Given the description of an element on the screen output the (x, y) to click on. 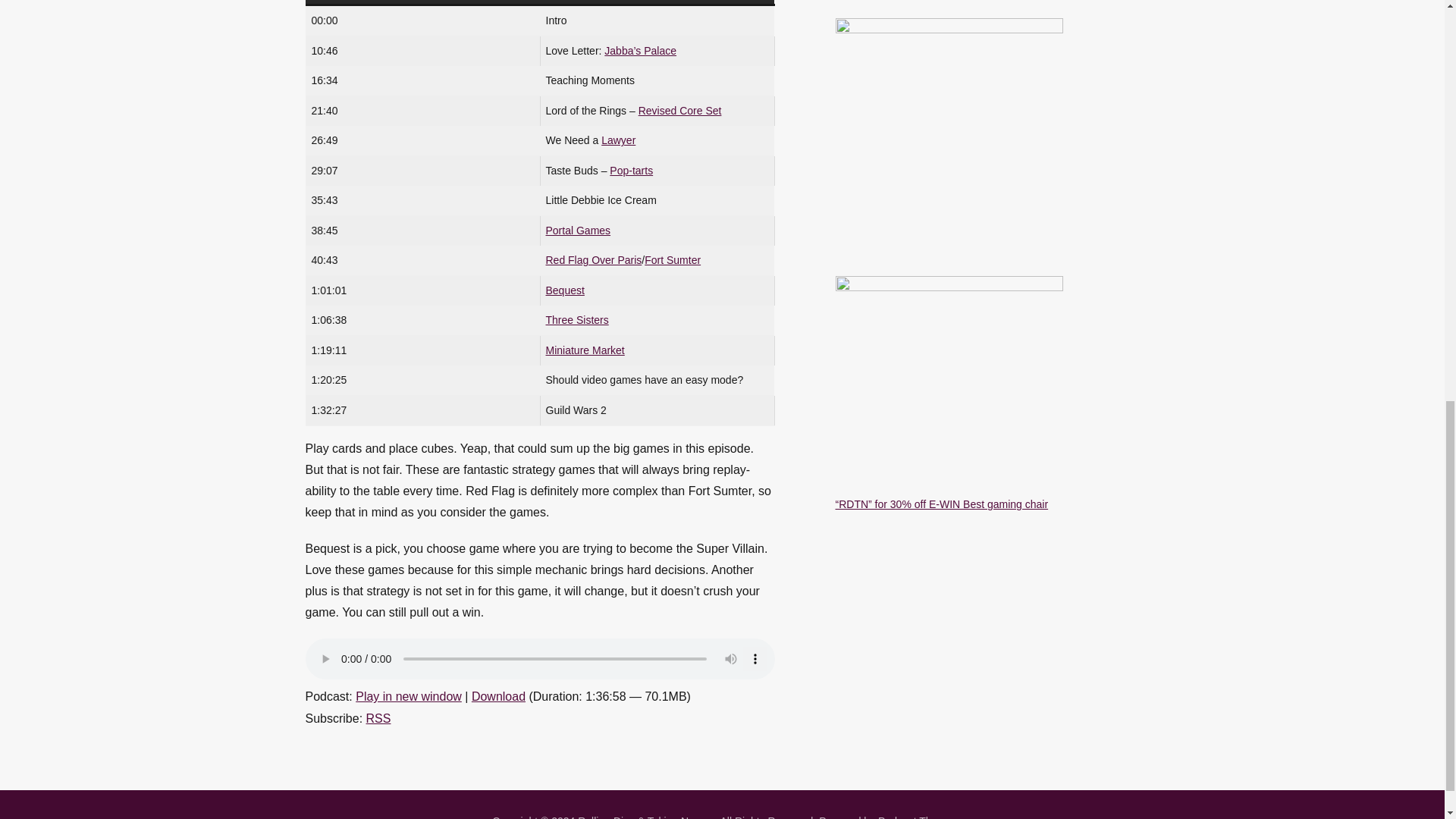
Subscribe via RSS (378, 717)
Download (498, 696)
Revised Core Set (680, 110)
Podcast Theme (914, 816)
Fort Sumter (672, 259)
Lawyer (617, 140)
Three Sisters (577, 319)
Play in new window (408, 696)
Lawyer (617, 140)
Download (498, 696)
